Given the description of an element on the screen output the (x, y) to click on. 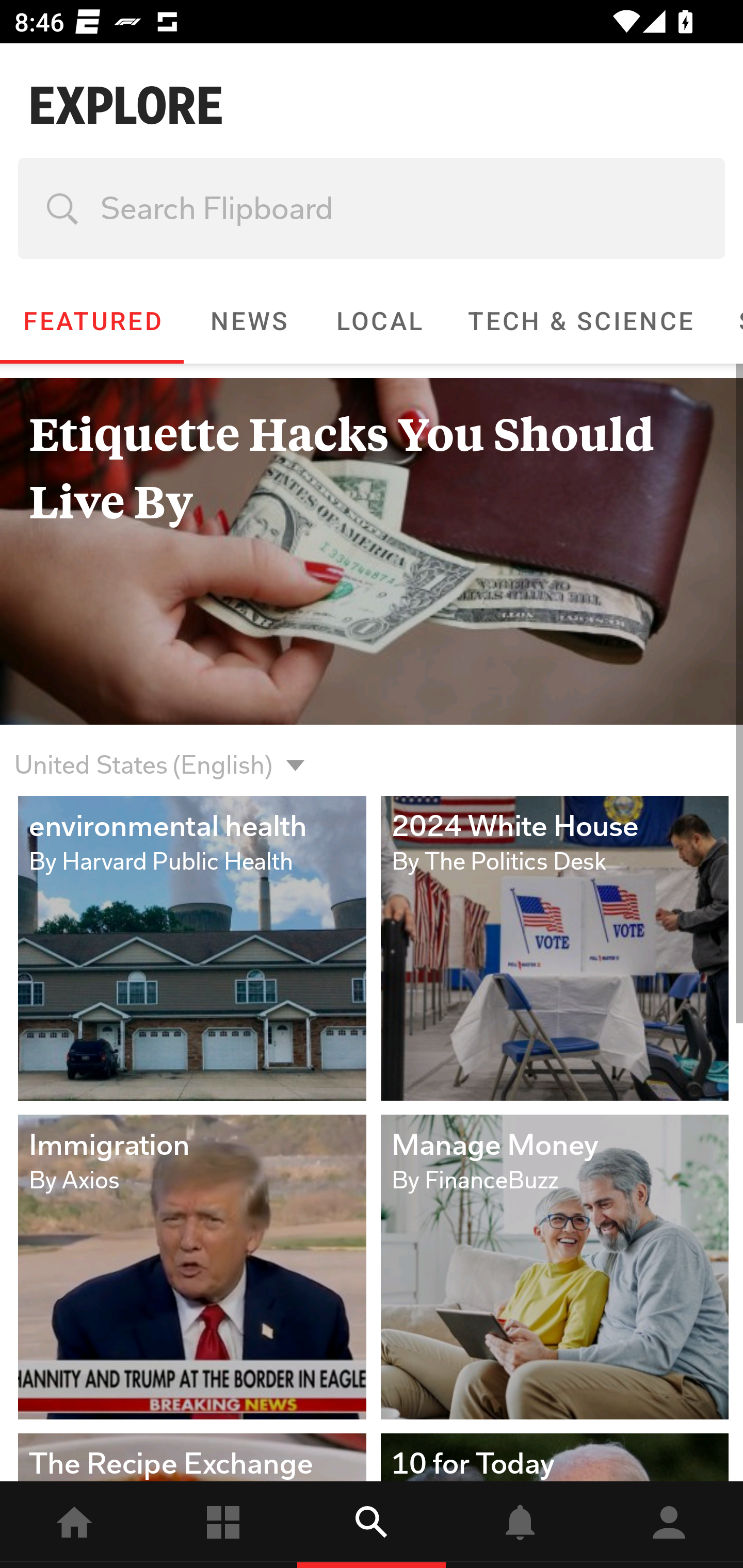
Search Flipboard (371, 208)
News NEWS (248, 320)
Local LOCAL (379, 320)
Tech & Science TECH & SCIENCE (580, 320)
United States (English) (143, 753)
home (74, 1524)
Following (222, 1524)
explore (371, 1524)
Notifications (519, 1524)
Profile (668, 1524)
